Given the description of an element on the screen output the (x, y) to click on. 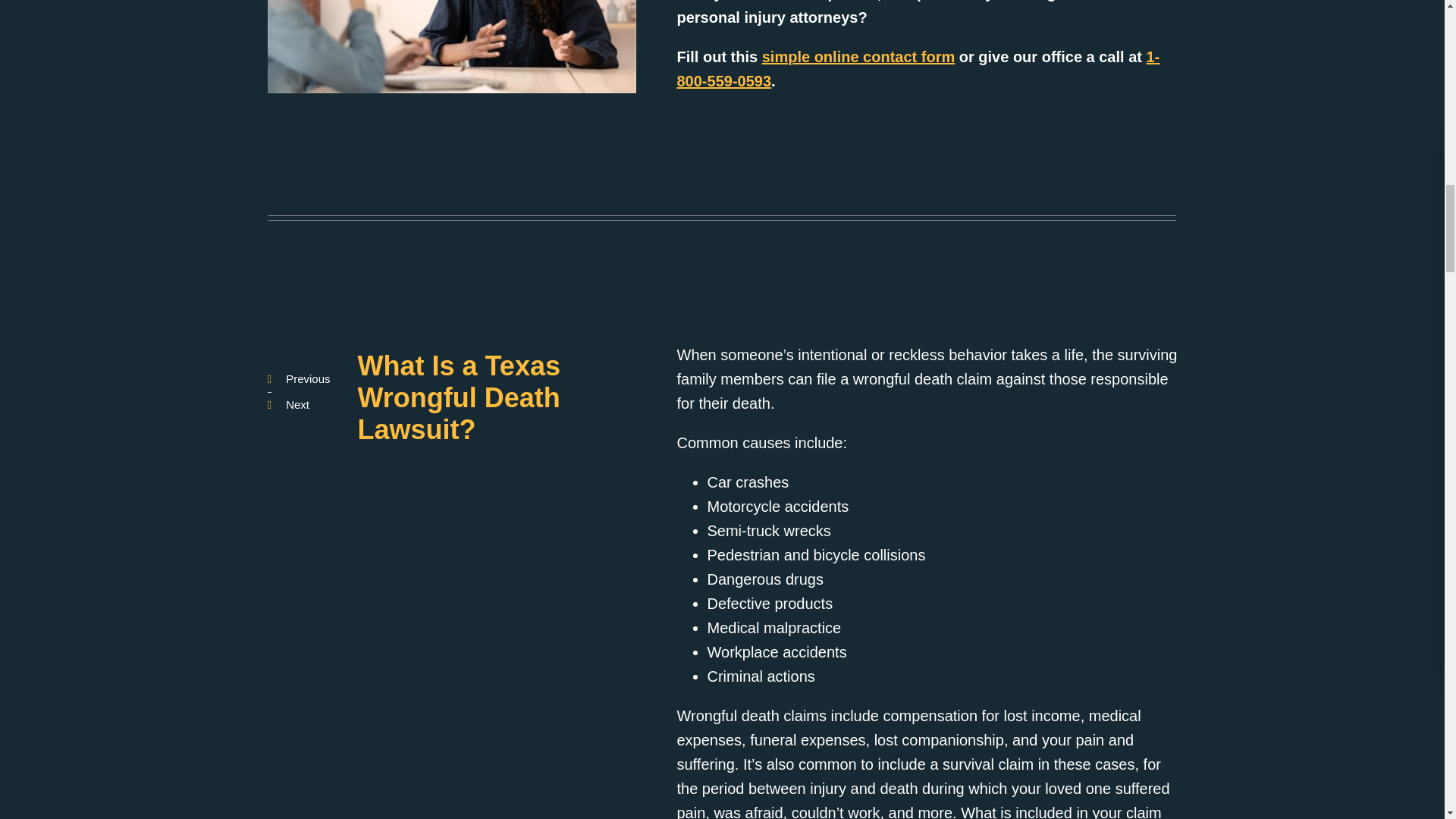
simple online contact form (858, 56)
1-800-559-0593 (917, 68)
